Given the description of an element on the screen output the (x, y) to click on. 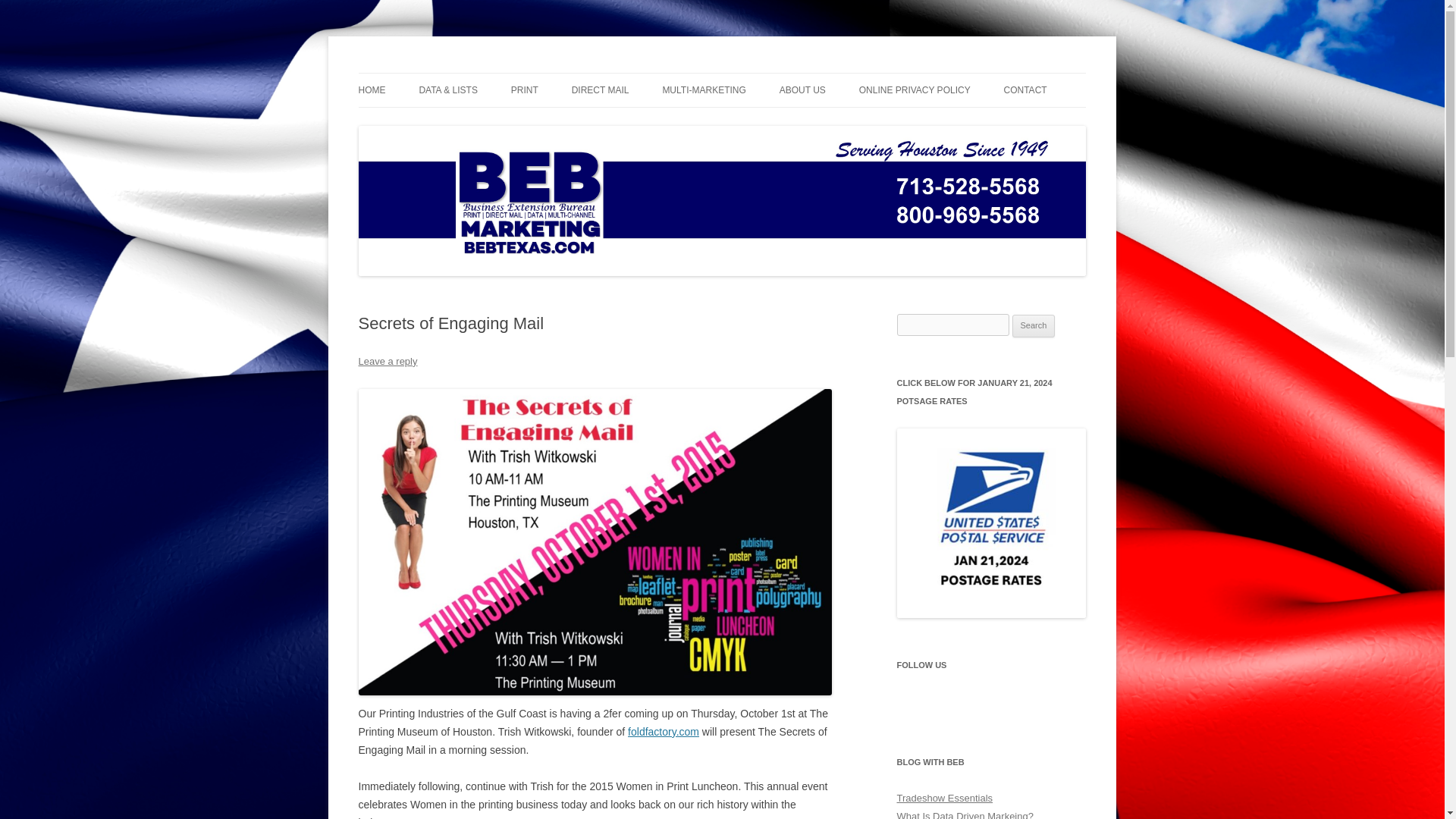
MULTI-MARKETING (703, 90)
foldfactory.com (662, 731)
ABOUT US (801, 90)
BEBTEXAS (411, 72)
DIGITAL PRINT (586, 122)
ANALYTICS (494, 122)
DIRECT MAIL (600, 90)
CONTACT (1025, 90)
DIRECT MAIL MARKETING (737, 122)
Leave a reply (387, 360)
Search (1033, 325)
ONLINE PRIVACY POLICY (915, 90)
